Given the description of an element on the screen output the (x, y) to click on. 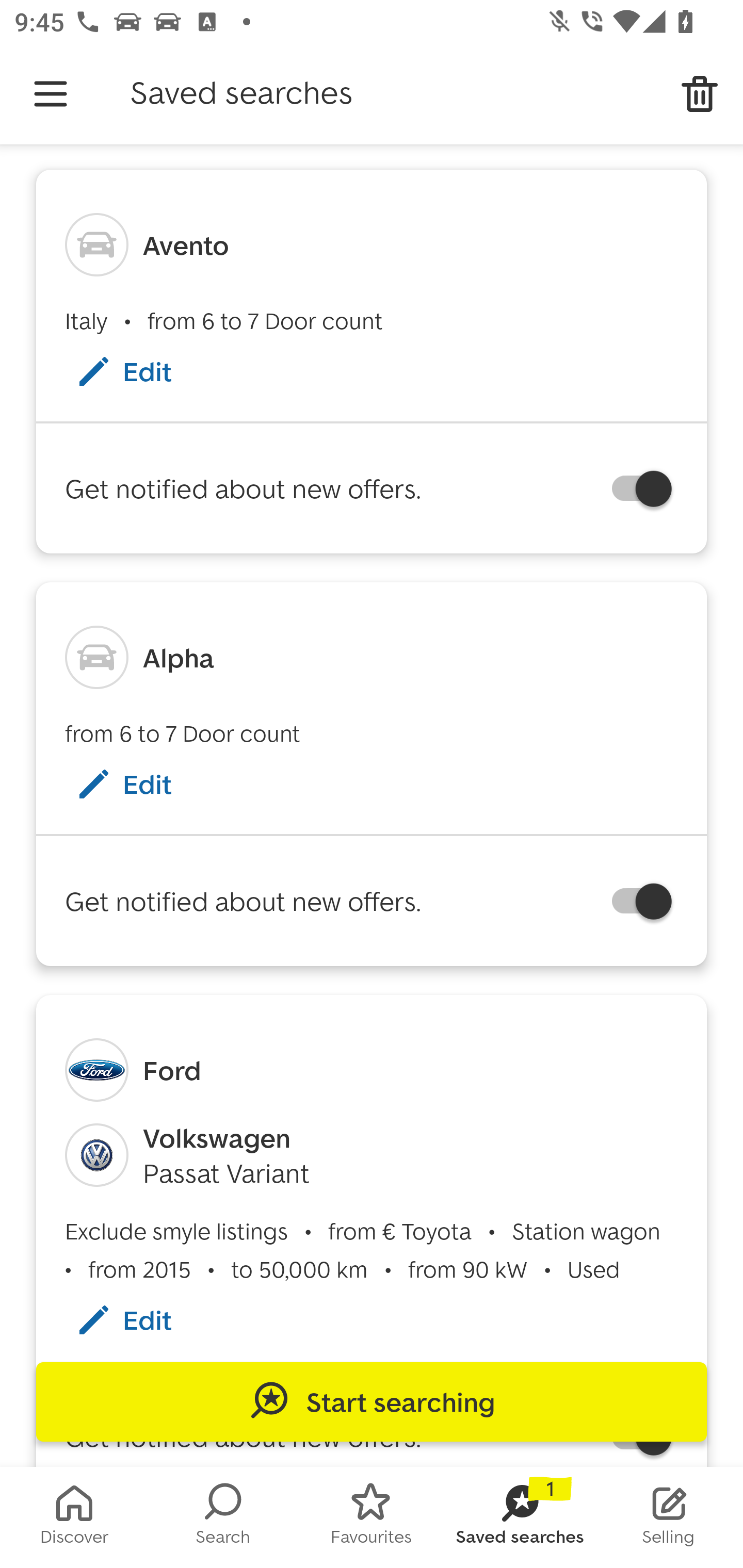
Navigate up (50, 93)
Delete vehicles (699, 93)
Edit (144, 371)
Edit (144, 783)
Edit (144, 1319)
Start searching (371, 1401)
HOMESCREEN Discover (74, 1517)
SEARCH Search (222, 1517)
FAVORITES Favourites (371, 1517)
SAVED_SEARCHES Saved searches 1 (519, 1517)
STOCK_LIST Selling (668, 1517)
